Given the description of an element on the screen output the (x, y) to click on. 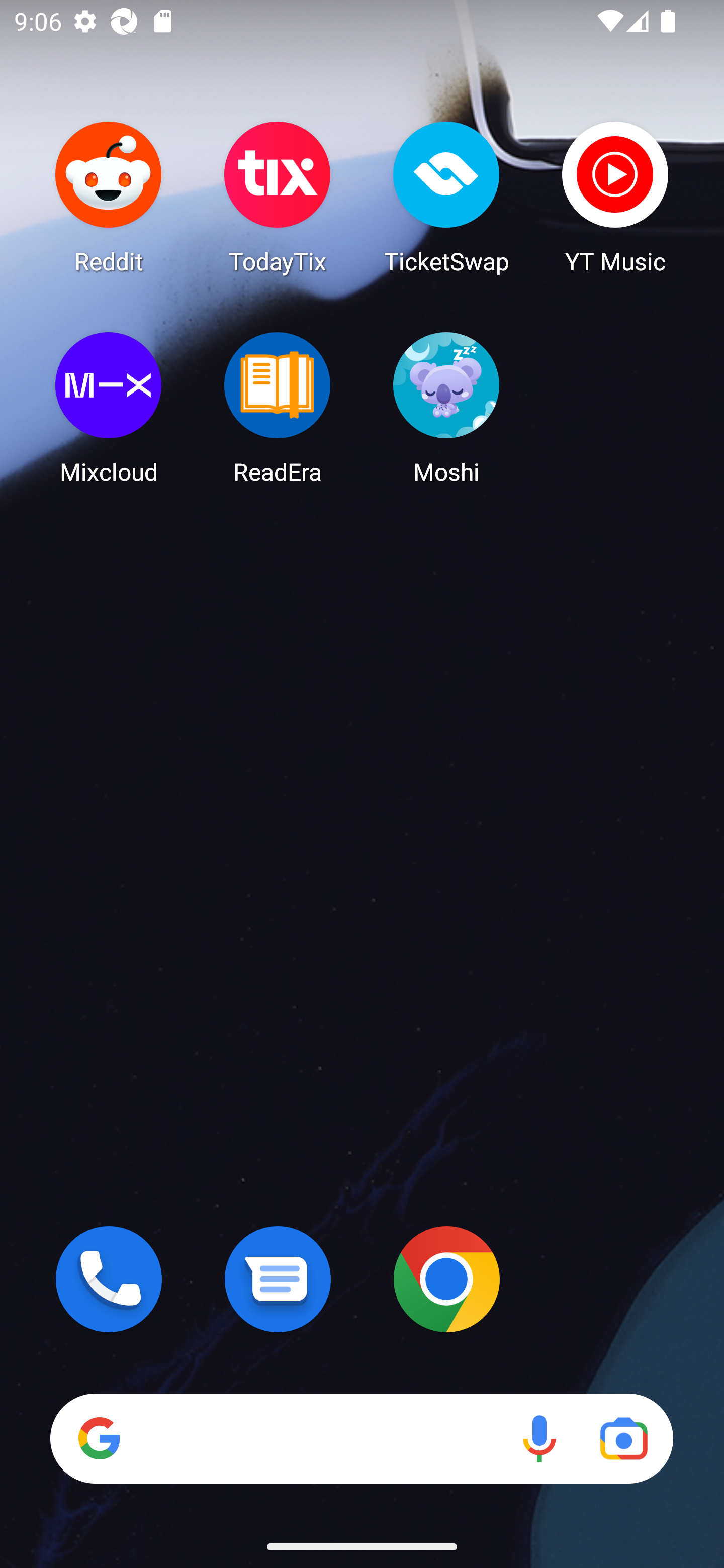
Reddit (108, 196)
TodayTix (277, 196)
TicketSwap (445, 196)
YT Music (615, 196)
Mixcloud (108, 407)
ReadEra (277, 407)
Moshi (445, 407)
Phone (108, 1279)
Messages (277, 1279)
Chrome (446, 1279)
Search Voice search Google Lens (361, 1438)
Voice search (539, 1438)
Google Lens (623, 1438)
